Given the description of an element on the screen output the (x, y) to click on. 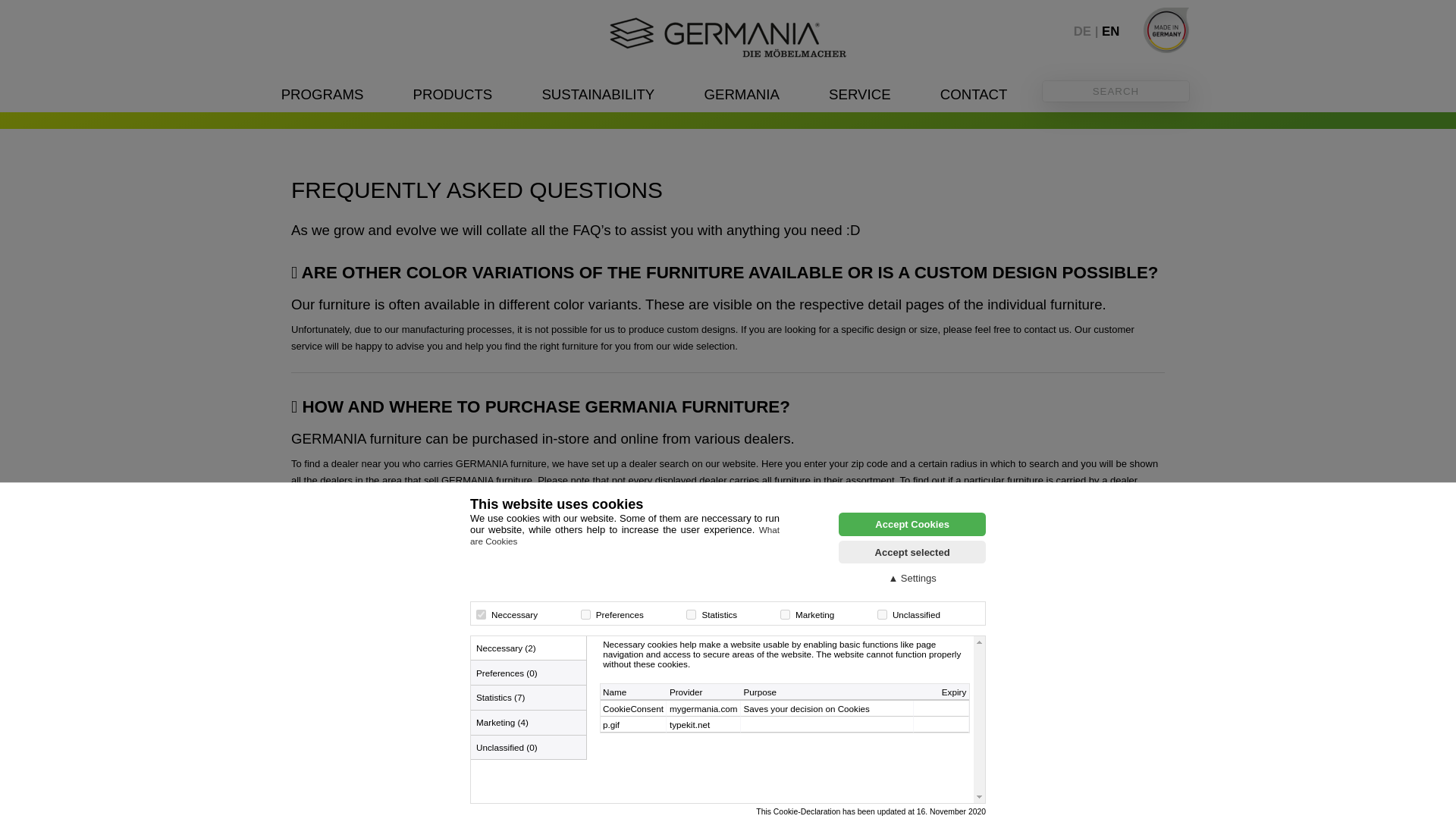
Programs (321, 94)
Contact (974, 94)
on (690, 614)
Germania (741, 94)
on (585, 614)
on (785, 614)
sustainability (597, 94)
Products (452, 94)
on (481, 614)
on (881, 614)
DE (1088, 31)
GERMANIA (741, 94)
SUSTAINABILITY (597, 94)
SERVICE (858, 94)
EN (1110, 31)
